Given the description of an element on the screen output the (x, y) to click on. 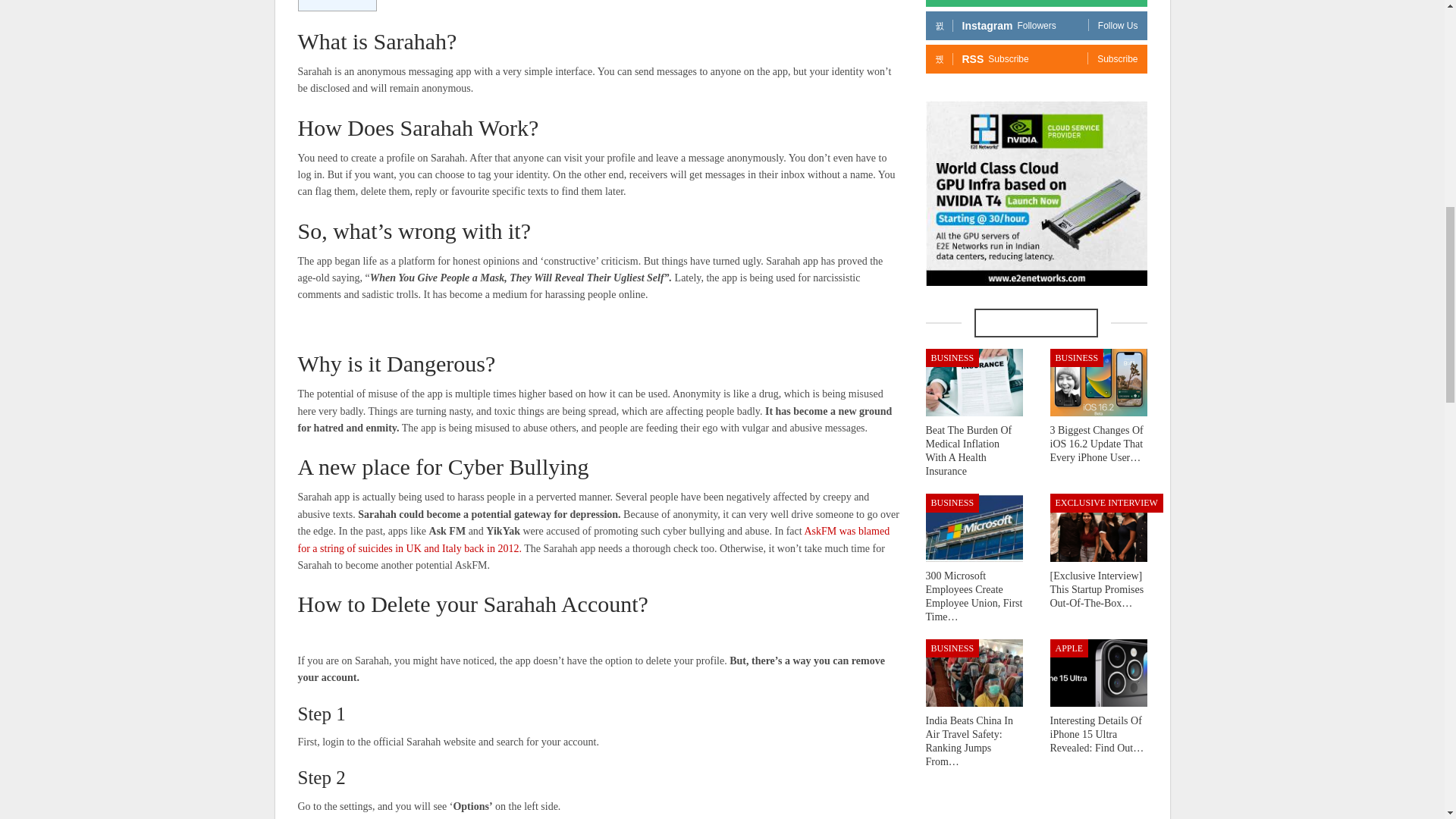
AskFM Blame (593, 539)
